Given the description of an element on the screen output the (x, y) to click on. 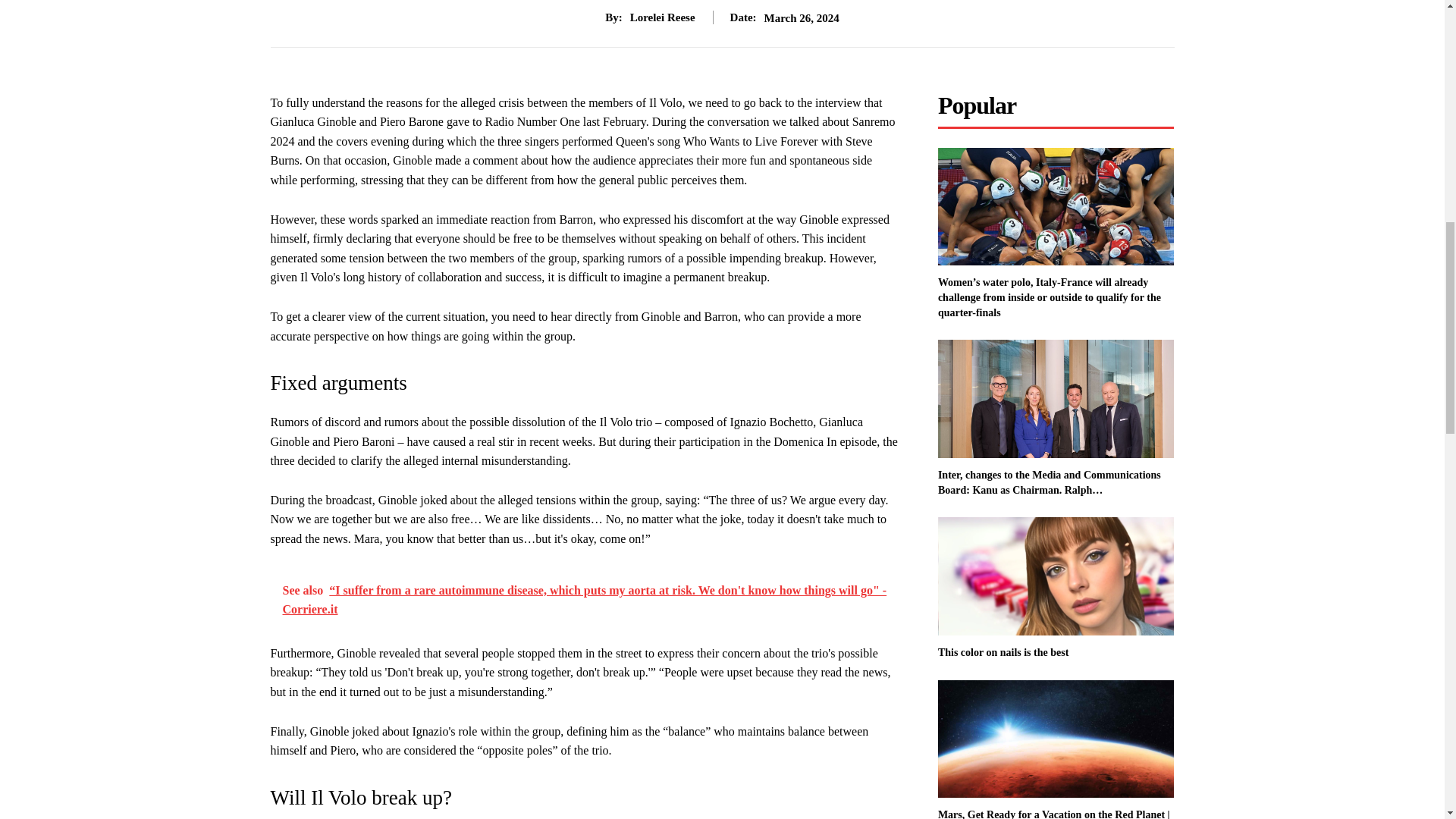
This color on nails is the best (1002, 652)
Lorelei Reese (662, 17)
This color on nails is the best (1055, 575)
